Given the description of an element on the screen output the (x, y) to click on. 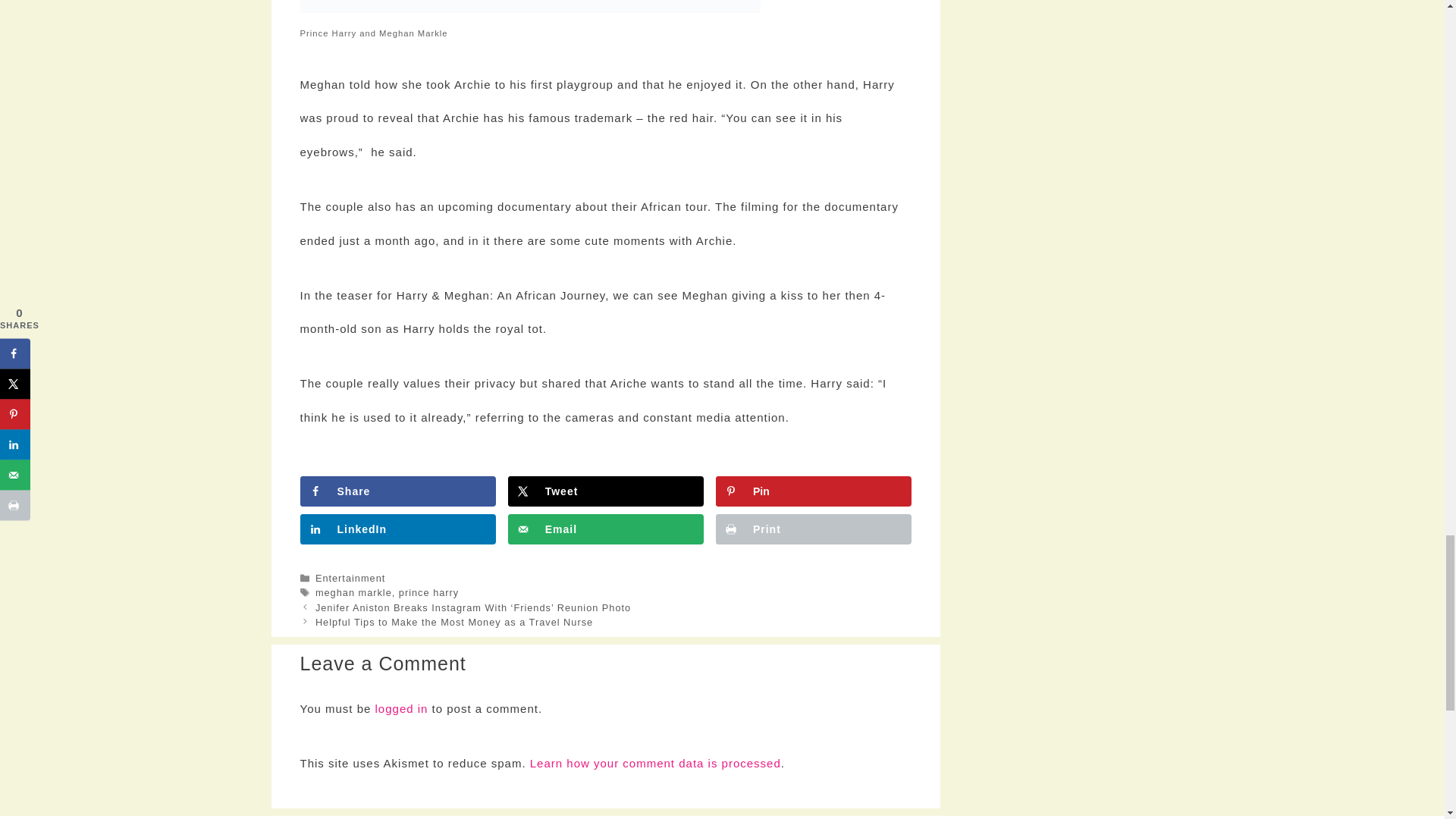
Share on X (605, 490)
Share on LinkedIn (397, 529)
Share on Facebook (397, 490)
Send over email (605, 529)
Print this webpage (813, 529)
Save to Pinterest (813, 490)
